Given the description of an element on the screen output the (x, y) to click on. 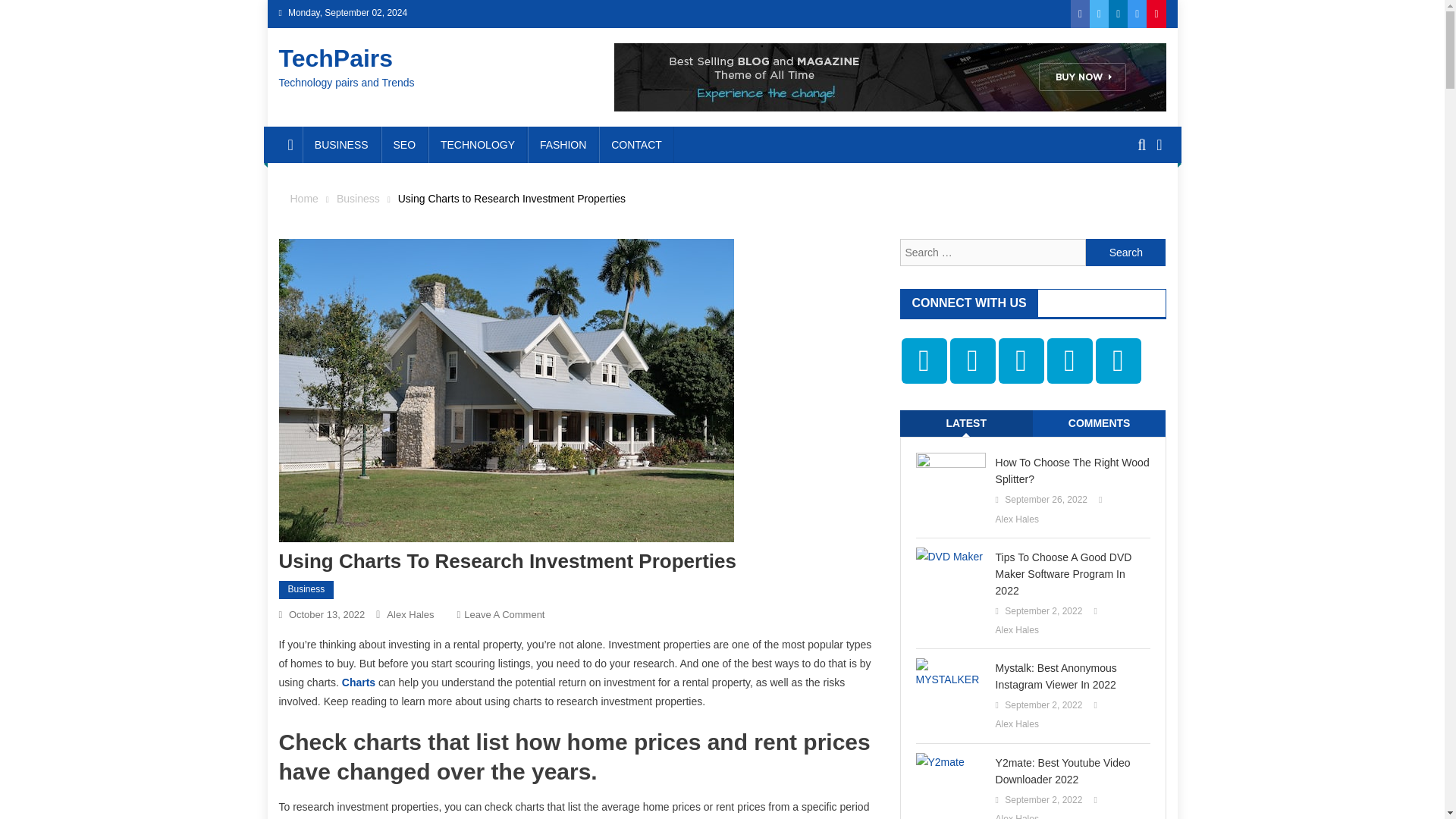
Social Media Icons (923, 361)
Search (1133, 199)
SEO (404, 144)
Alex Hales (410, 614)
Social Media Icons (1069, 361)
Business (306, 589)
Social Media Icons (1117, 361)
Charts (360, 682)
TECHNOLOGY (477, 144)
TechPairs (336, 58)
